Given the description of an element on the screen output the (x, y) to click on. 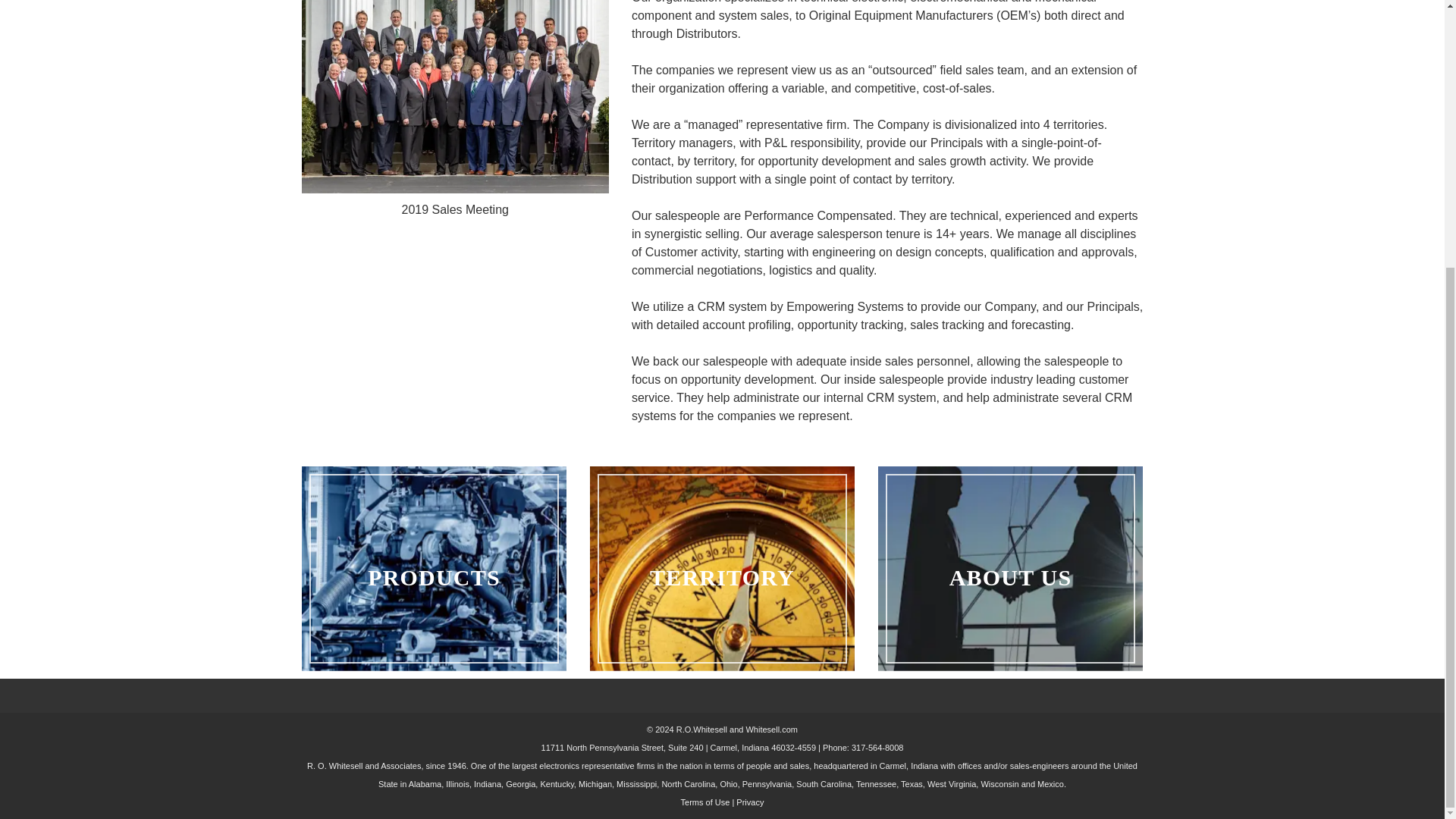
ABOUT US (1009, 568)
TERRITORY (722, 568)
PRODUCTS (434, 568)
